Given the description of an element on the screen output the (x, y) to click on. 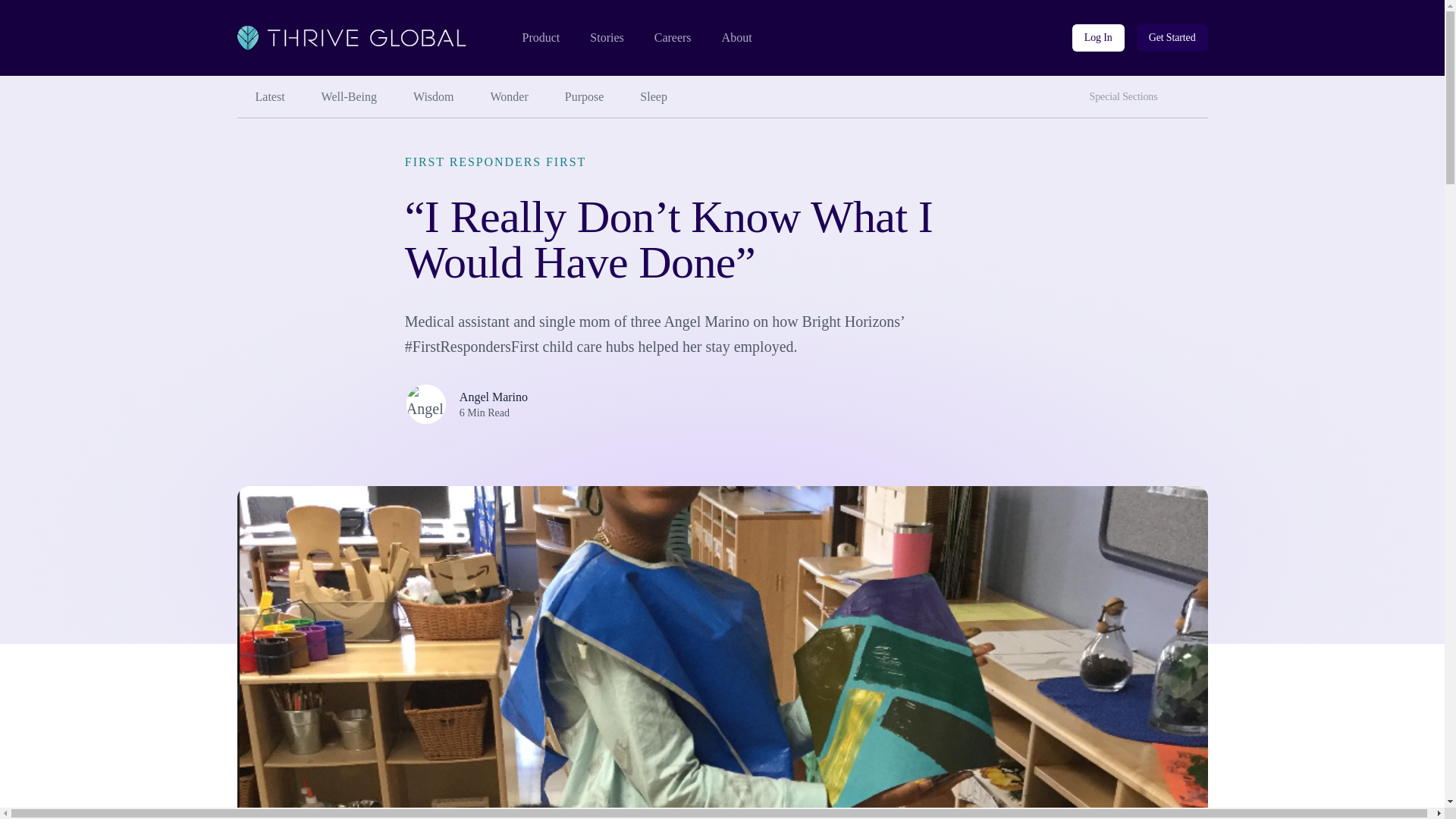
Get Started (1172, 37)
Well-Being (348, 96)
Product (540, 37)
Log In (1097, 37)
About (737, 37)
Wisdom (432, 96)
Stories (606, 37)
Sleep (653, 96)
Purpose (585, 96)
Latest (268, 96)
Wonder (509, 96)
Careers (1193, 91)
Special Sections (672, 37)
